Given the description of an element on the screen output the (x, y) to click on. 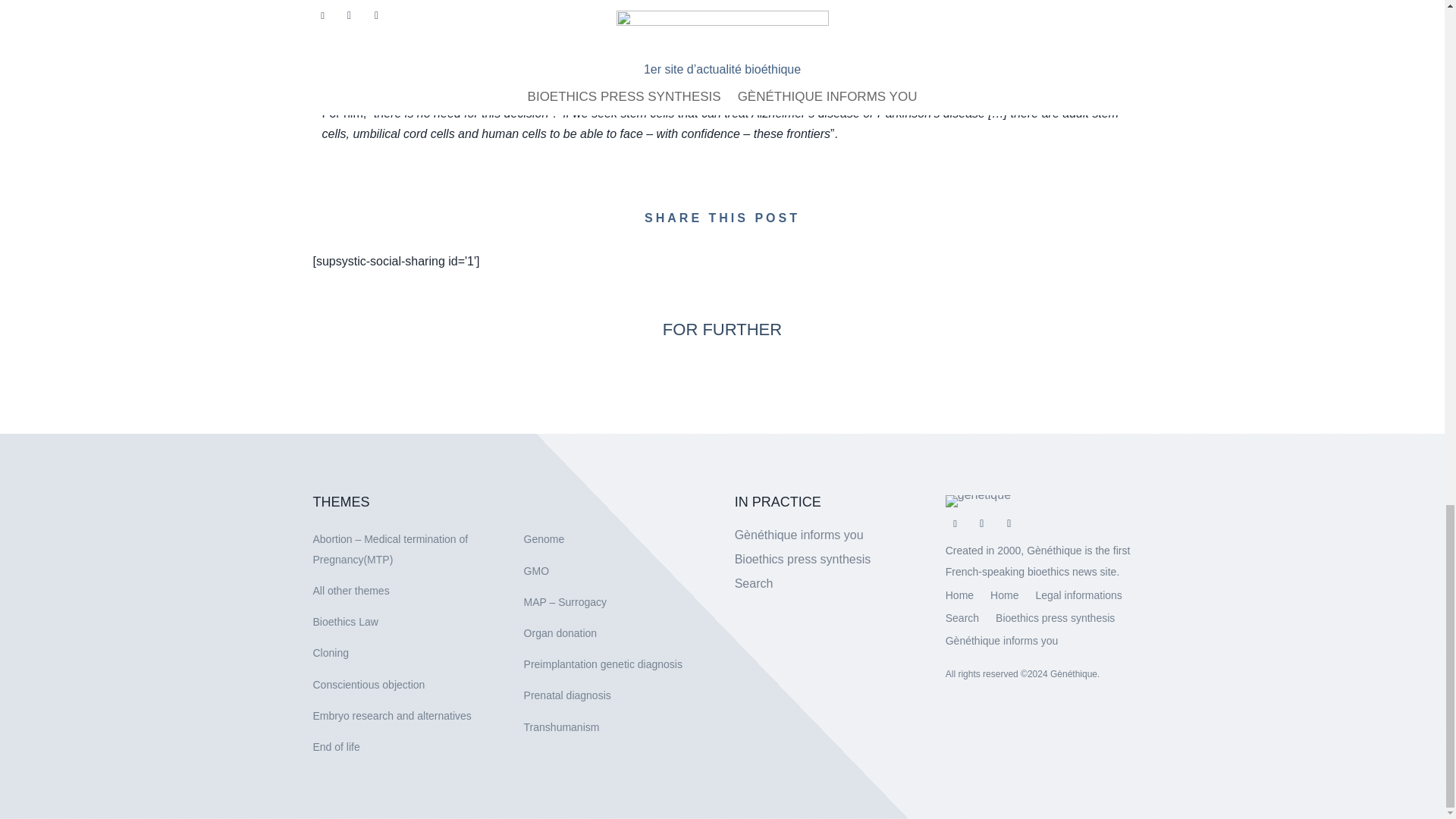
All other themes (350, 590)
Follow on Facebook (954, 523)
Bioethics press synthesis (1055, 620)
Bioethics Law (345, 621)
Home (1003, 597)
Home (959, 597)
Cloning (330, 653)
Genome (544, 539)
Search (754, 583)
Conscientious objection (369, 684)
